Given the description of an element on the screen output the (x, y) to click on. 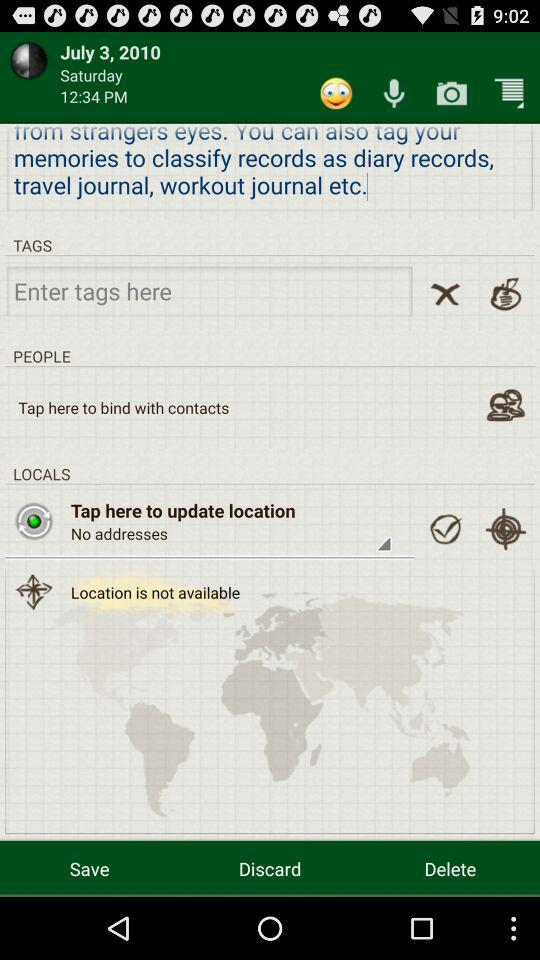
toggle to bind phone contacts to app (505, 404)
